Given the description of an element on the screen output the (x, y) to click on. 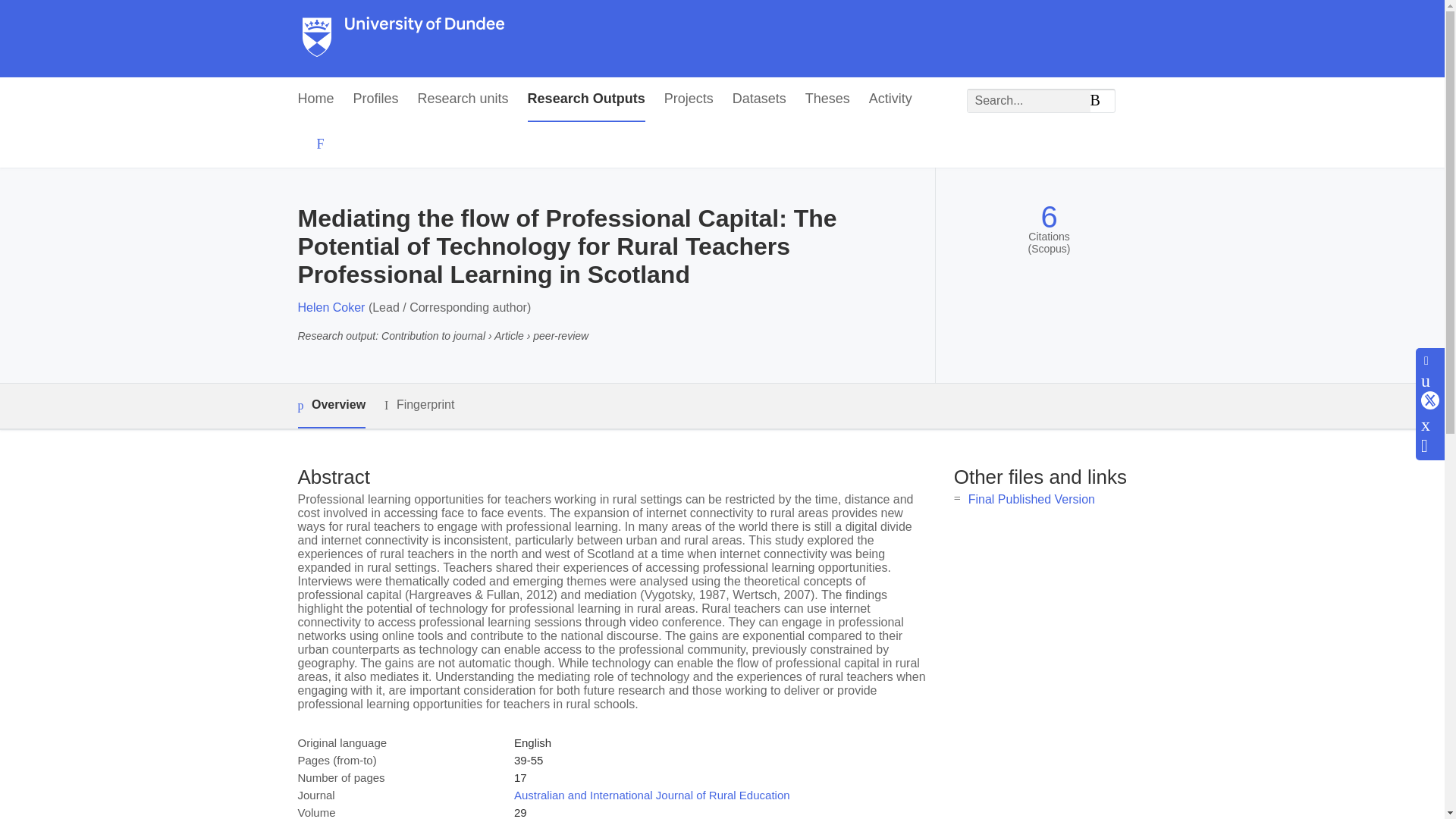
Profiles (375, 99)
Helen Coker (331, 307)
Fingerprint (419, 405)
Discovery - the University of Dundee Research Portal Home (404, 38)
Projects (688, 99)
Theses (827, 99)
Final Published Version (1031, 499)
Activity (890, 99)
Research Outputs (586, 99)
